Given the description of an element on the screen output the (x, y) to click on. 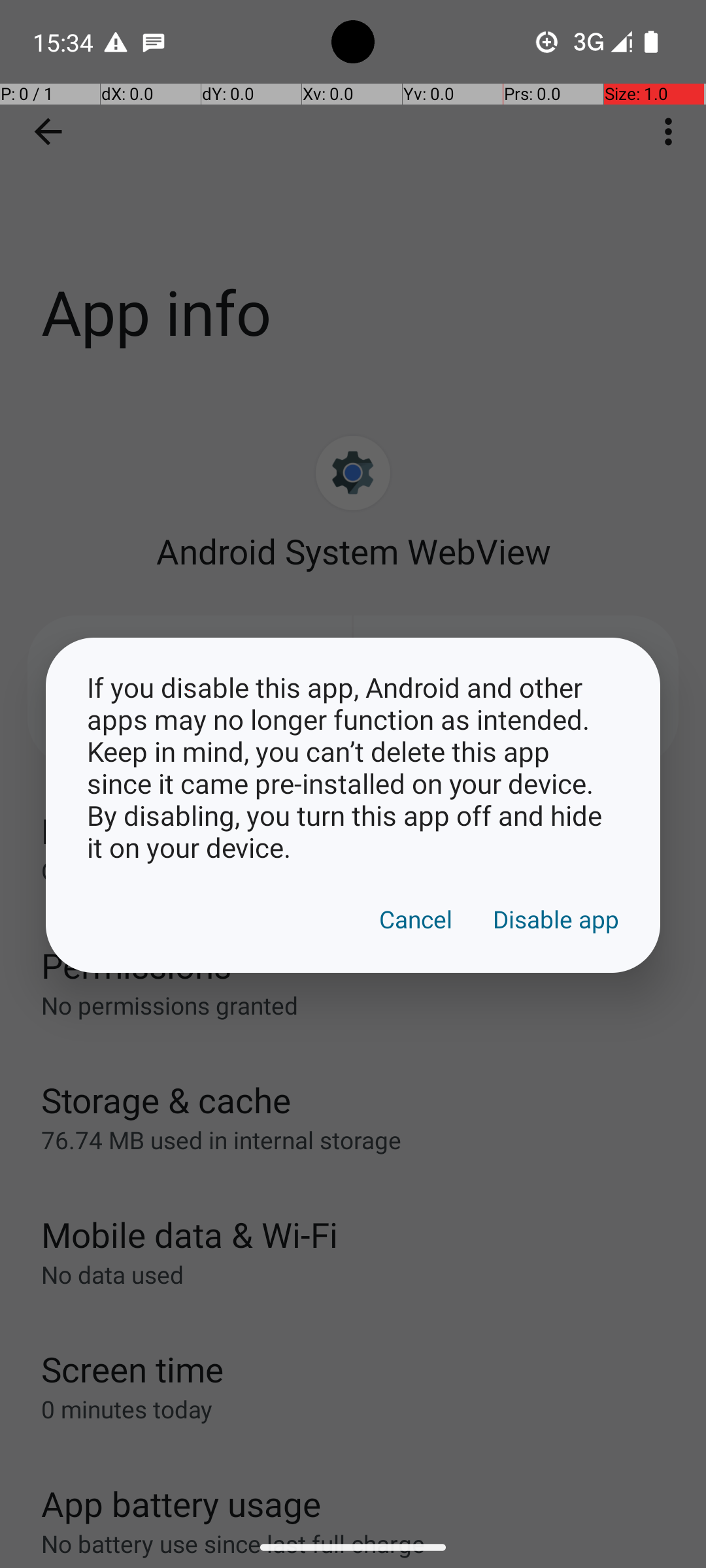
If you disable this app, Android and other apps may no longer function as intended. Keep in mind, you can’t delete this app since it came pre-installed on your device. By disabling, you turn this app off and hide it on your device. Element type: android.widget.TextView (352, 766)
Disable app Element type: android.widget.Button (555, 918)
